Given the description of an element on the screen output the (x, y) to click on. 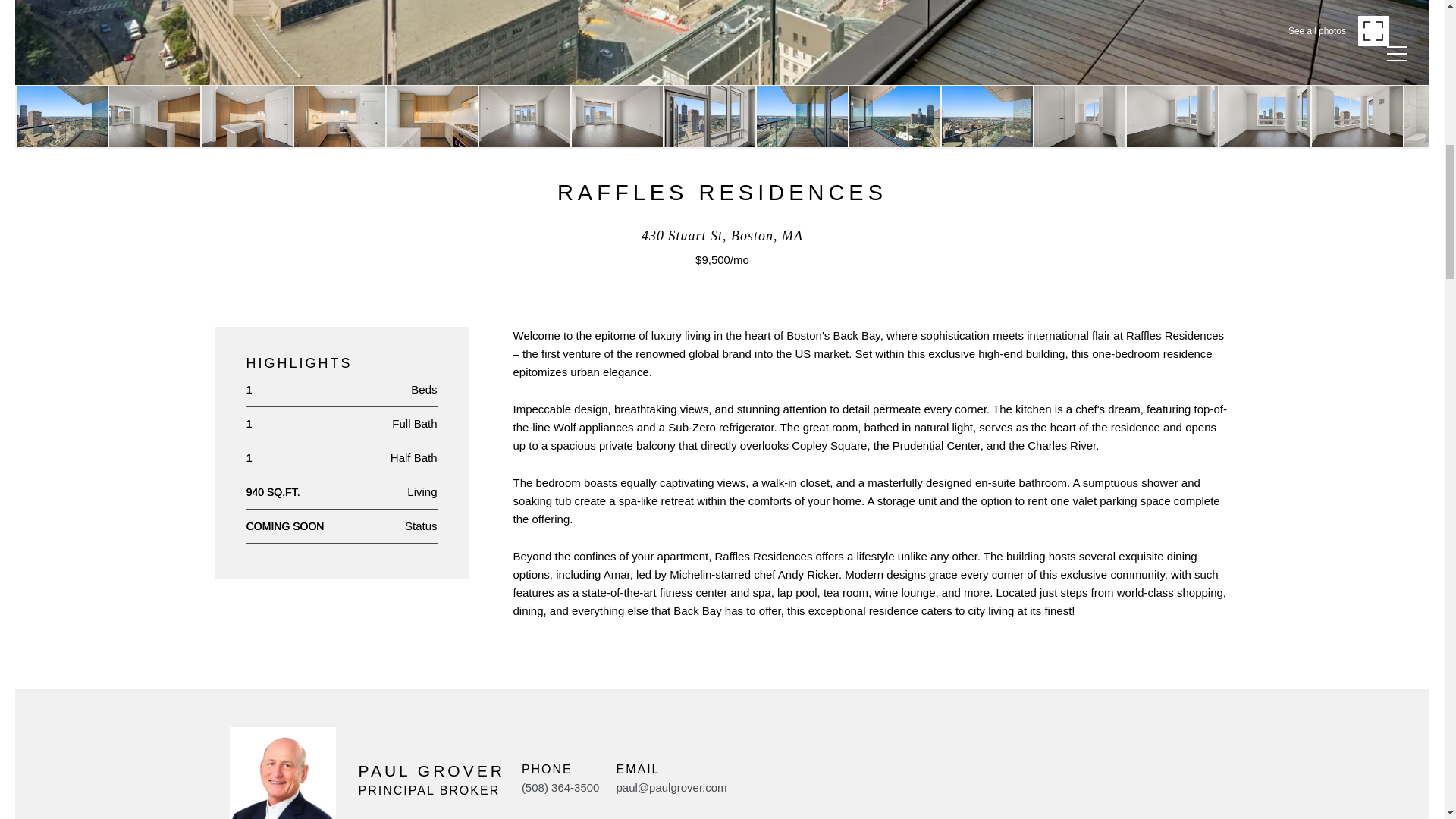
See all photos (1338, 30)
